Given the description of an element on the screen output the (x, y) to click on. 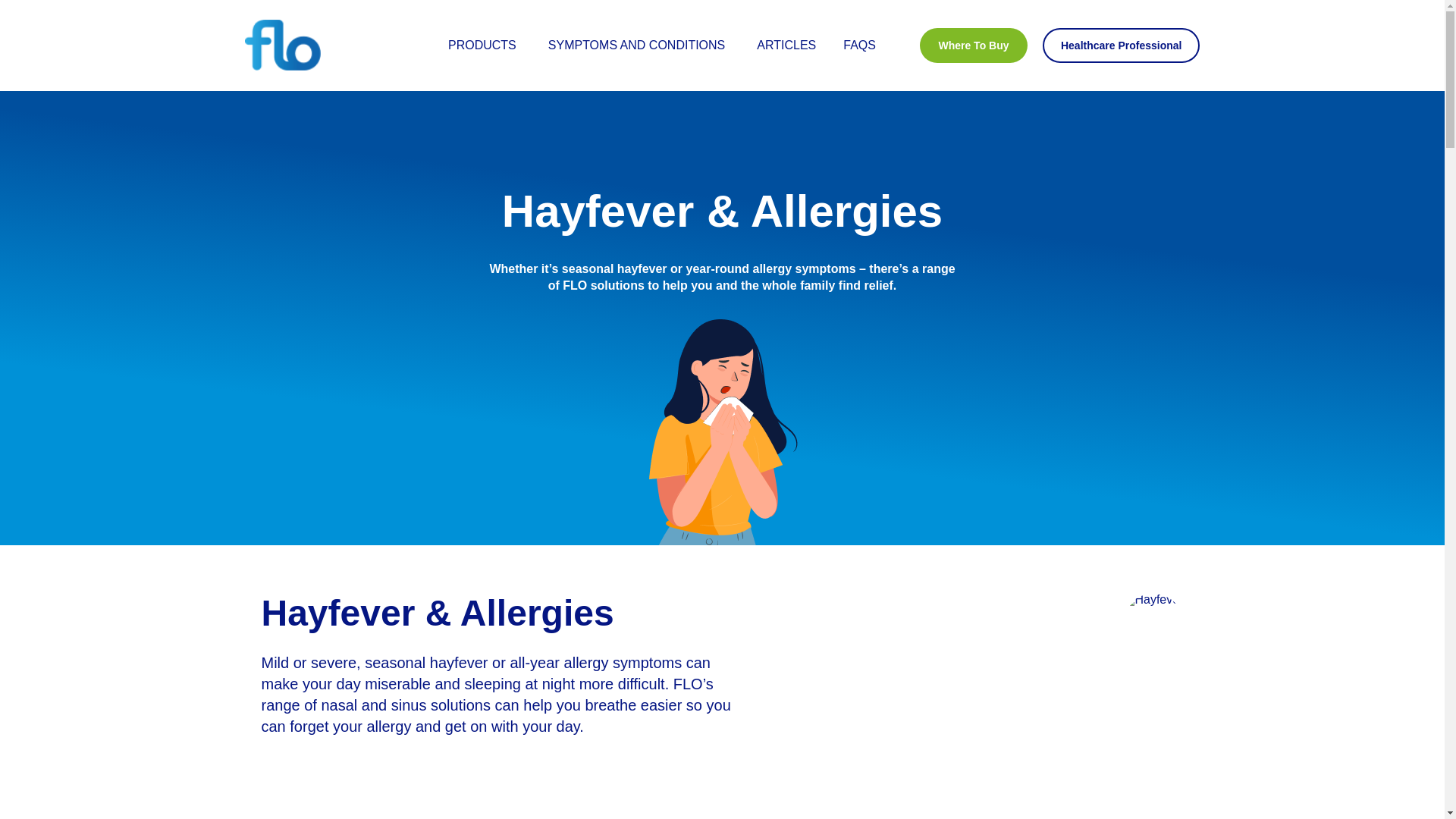
FAQS (859, 45)
PRODUCTS (484, 45)
ARTICLES (786, 45)
SYMPTOMS AND CONDITIONS (639, 45)
Healthcare Professional (1120, 45)
Where To Buy (973, 45)
